Given the description of an element on the screen output the (x, y) to click on. 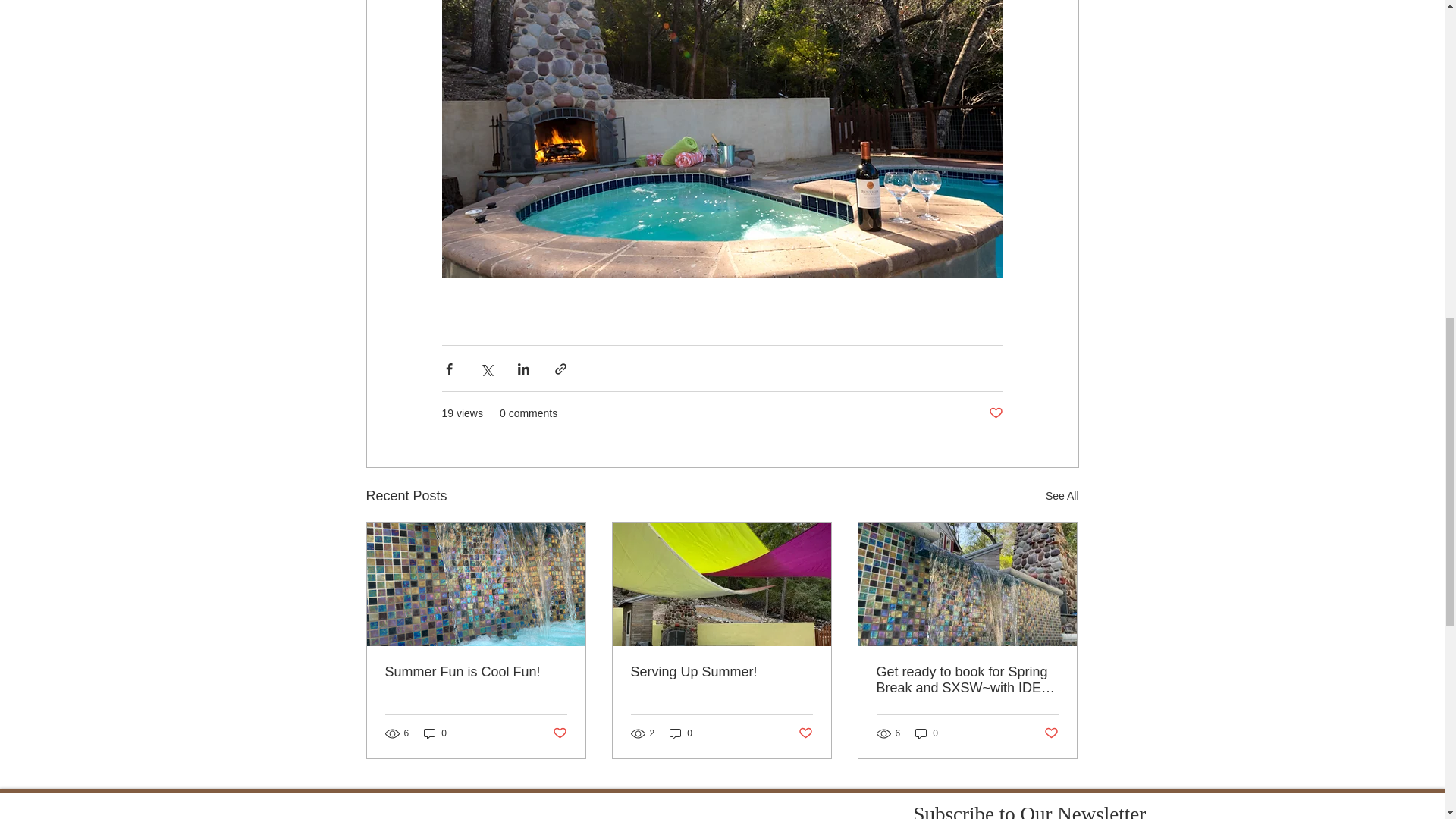
Post not marked as liked (995, 413)
See All (1061, 495)
0 (435, 733)
Summer Fun is Cool Fun! (476, 672)
Serving Up Summer! (721, 672)
Post not marked as liked (558, 733)
